Given the description of an element on the screen output the (x, y) to click on. 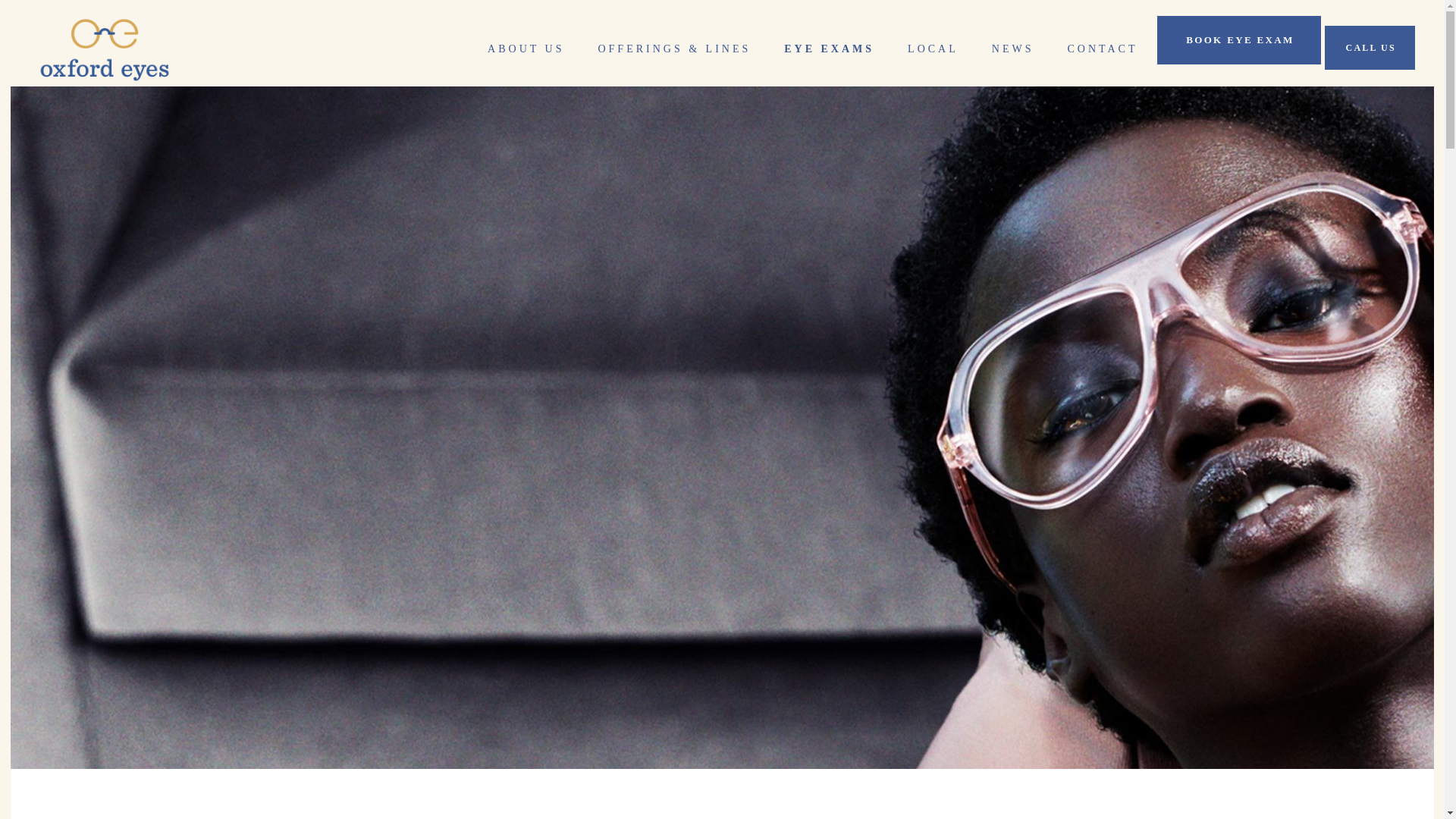
NEWS (1013, 48)
BOOK EYE EXAM (1238, 39)
LOCAL (933, 48)
CONTACT (1101, 48)
CALL US (1369, 47)
EYE EXAMS (829, 48)
ABOUT US (525, 48)
